Given the description of an element on the screen output the (x, y) to click on. 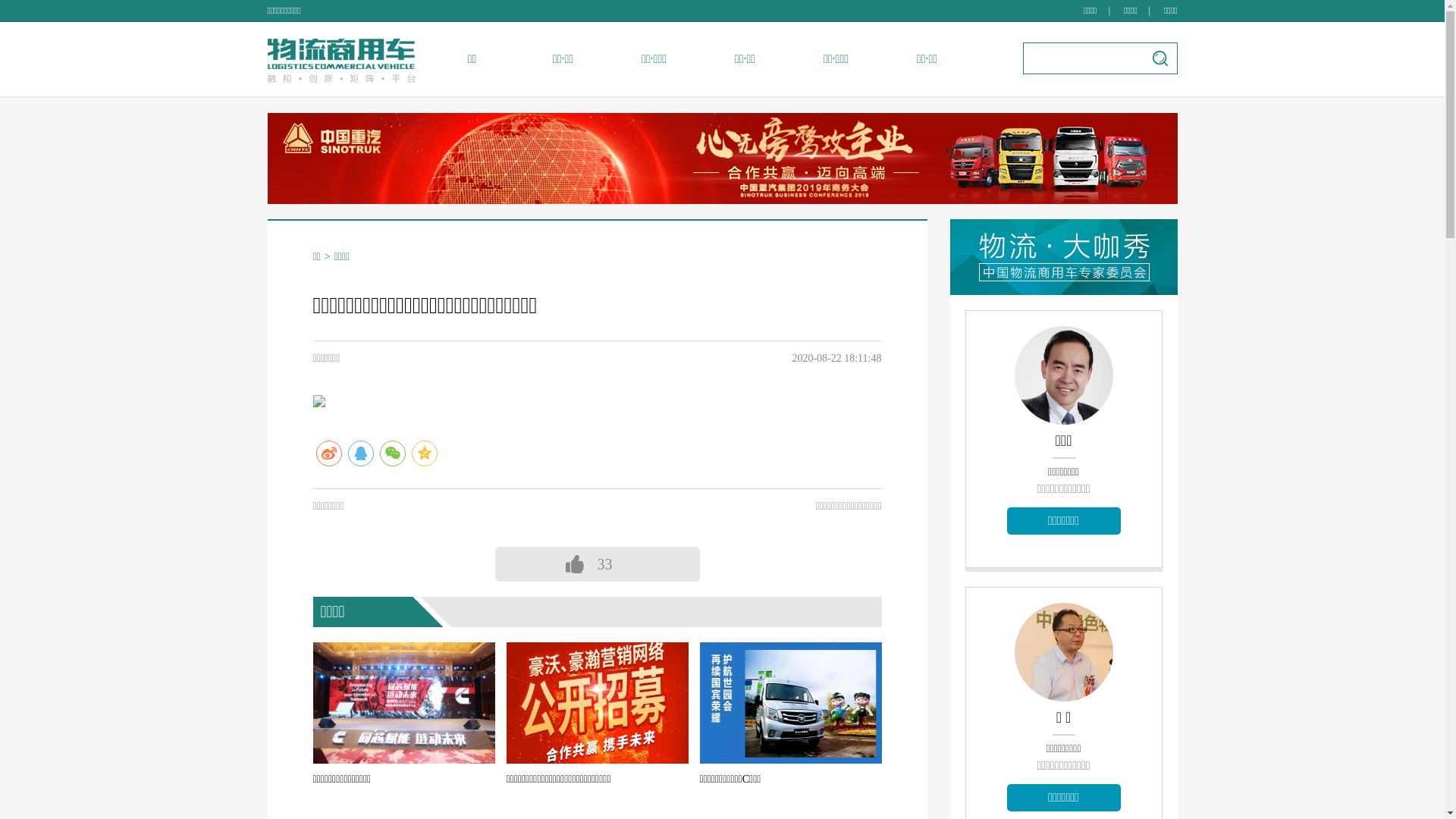
33 Element type: text (699, 563)
